Given the description of an element on the screen output the (x, y) to click on. 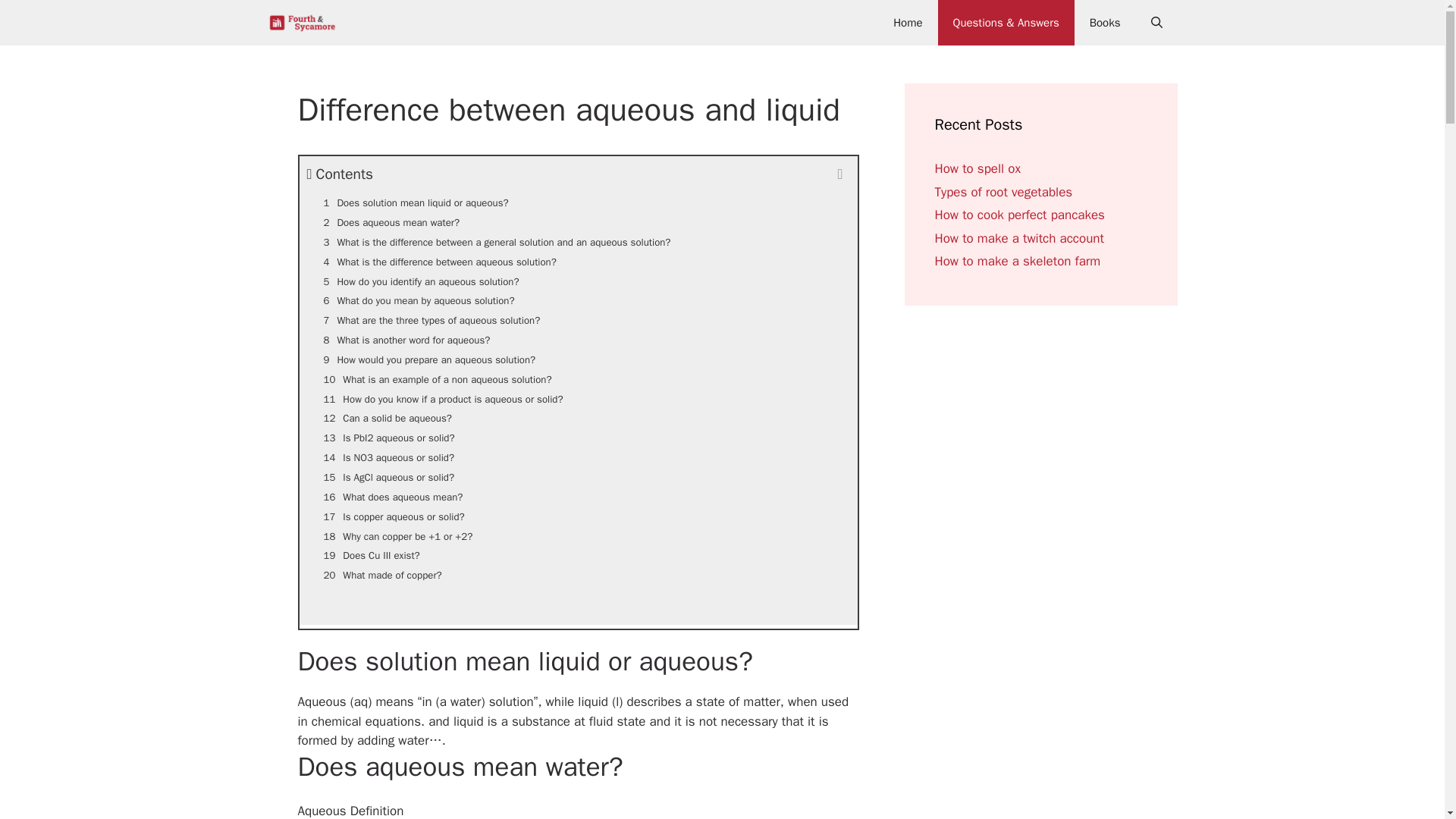
What are the three types of aqueous solution? (577, 320)
Is AgCl aqueous or solid? (577, 477)
Can a solid be aqueous? (577, 418)
Is NO3 aqueous or solid? (577, 457)
What is an example of a non aqueous solution? (577, 379)
Does Cu III exist? (577, 555)
Does aqueous mean water? (577, 222)
What is another word for aqueous? (577, 340)
Is PbI2 aqueous or solid? (577, 437)
How do you know if a product is aqueous or solid? (577, 399)
How do you identify an aqueous solution? (577, 281)
What do you mean by aqueous solution? (577, 301)
Is copper aqueous or solid? (577, 516)
How would you prepare an aqueous solution? (577, 360)
